Given the description of an element on the screen output the (x, y) to click on. 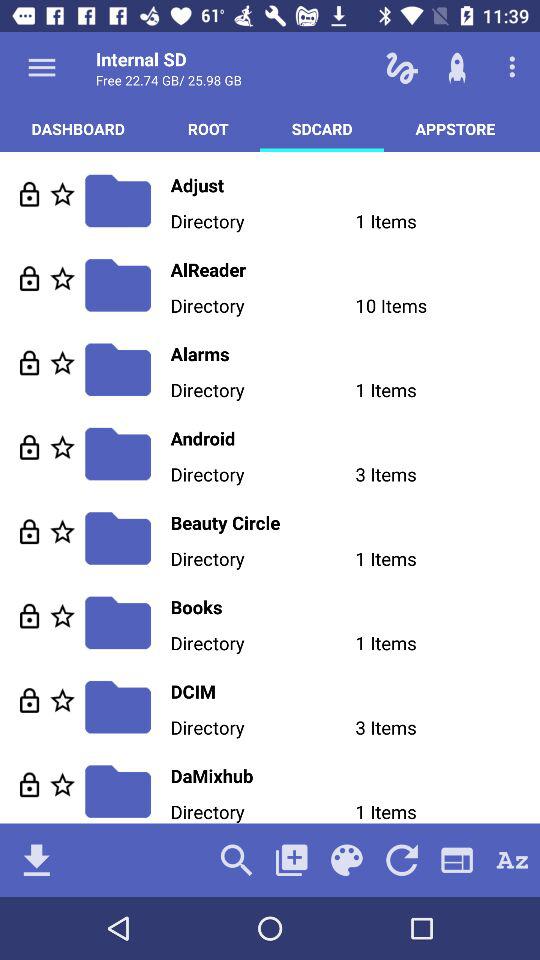
turn off the item below directory icon (355, 522)
